Given the description of an element on the screen output the (x, y) to click on. 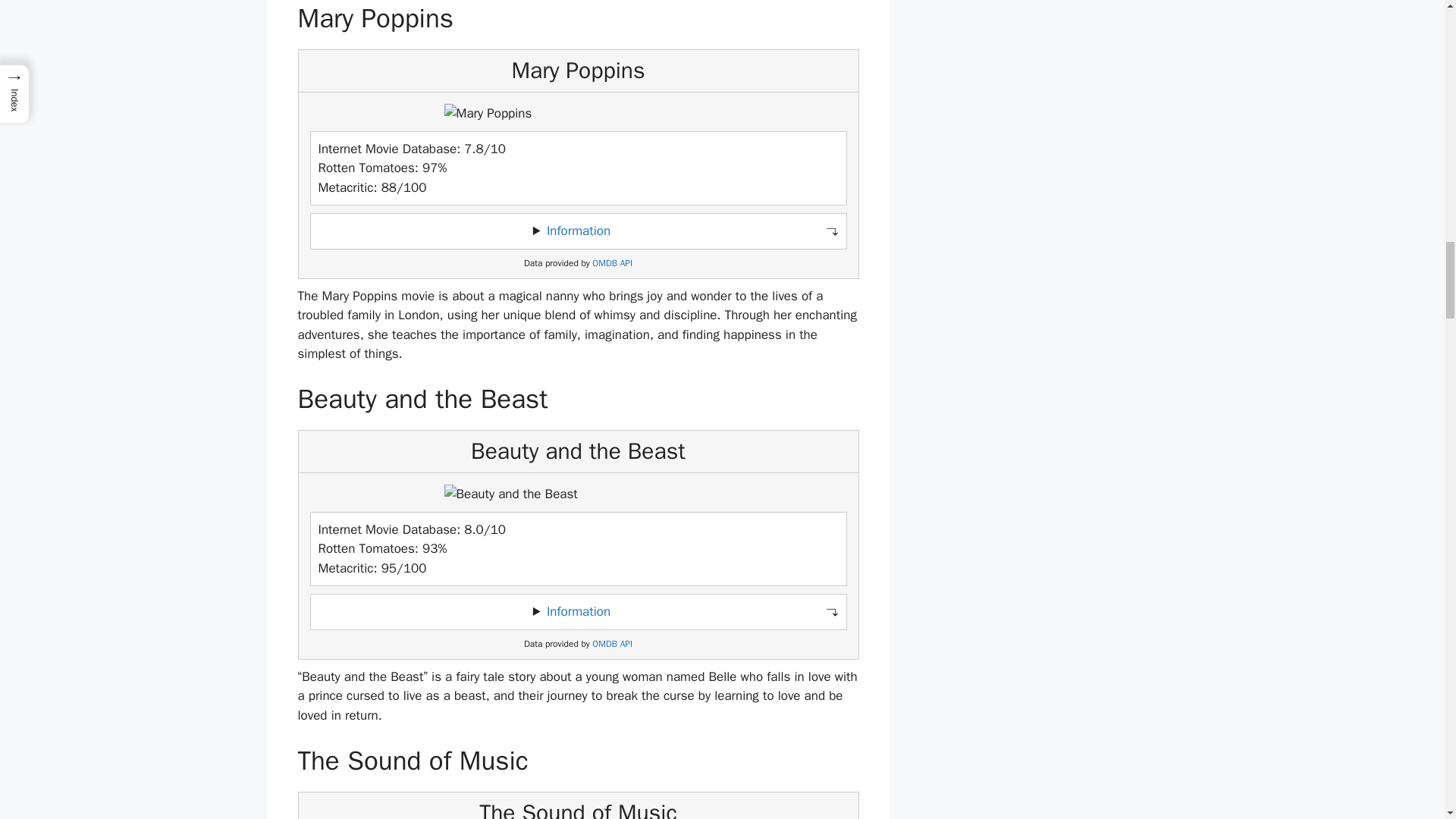
OMDB API (611, 644)
Information (578, 230)
Toggle information (578, 230)
Information (578, 611)
OMDB API (611, 263)
Open Movie Database API (611, 263)
